Given the description of an element on the screen output the (x, y) to click on. 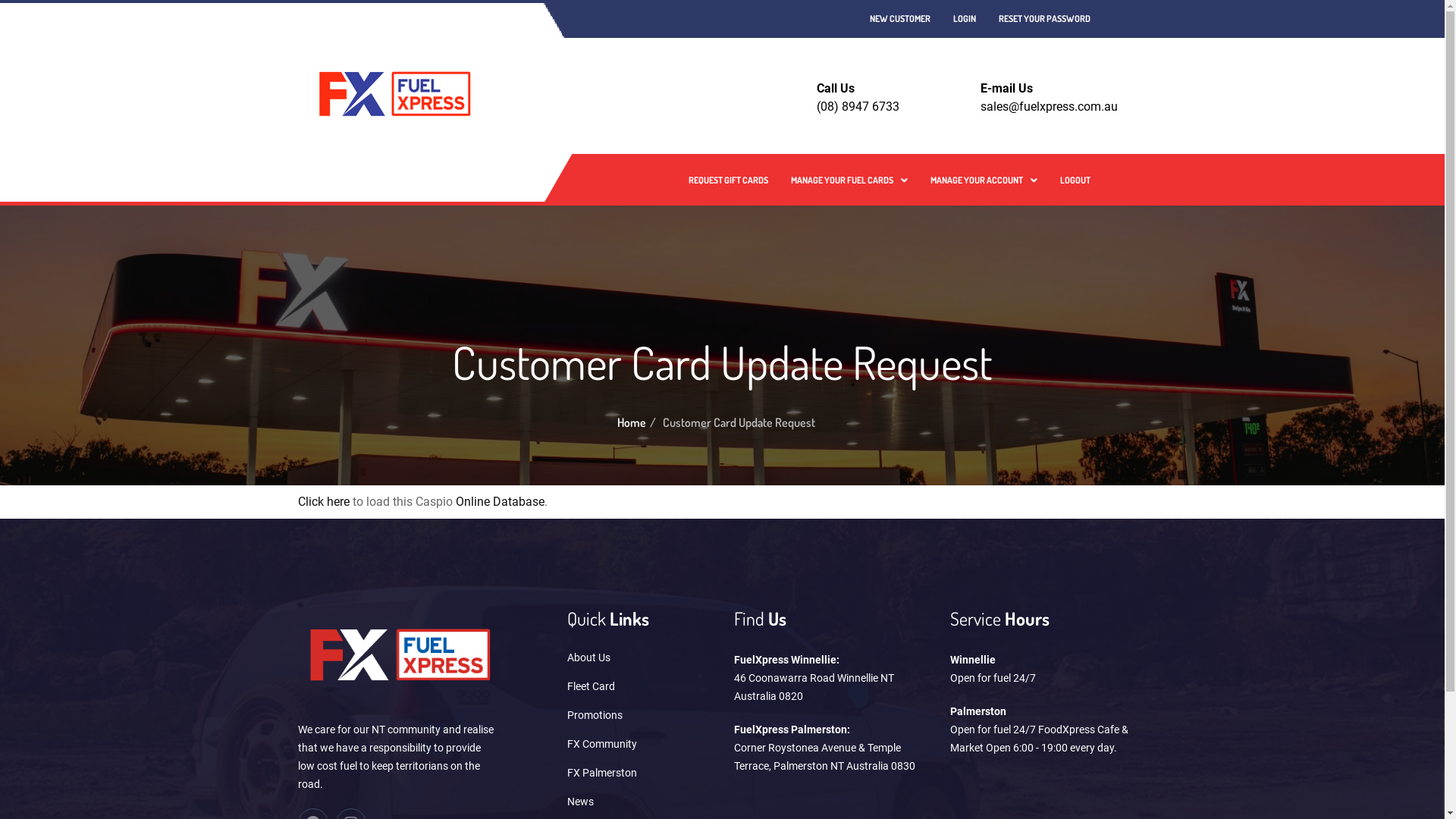
MANAGE YOUR ACCOUNT Element type: text (983, 180)
Promotions Element type: text (641, 714)
NEW CUSTOMER Element type: text (899, 18)
FX Palmerston Element type: text (641, 772)
News Element type: text (641, 801)
FX Community Element type: text (641, 743)
REQUEST GIFT CARDS Element type: text (727, 180)
LOGIN Element type: text (964, 18)
About Us Element type: text (641, 657)
Click here Element type: text (322, 501)
Online Database Element type: text (499, 501)
Home Element type: text (631, 421)
LOGOUT Element type: text (1074, 180)
Fleet Card Element type: text (641, 685)
MANAGE YOUR FUEL CARDS Element type: text (849, 180)
RESET YOUR PASSWORD Element type: text (1044, 18)
